Given the description of an element on the screen output the (x, y) to click on. 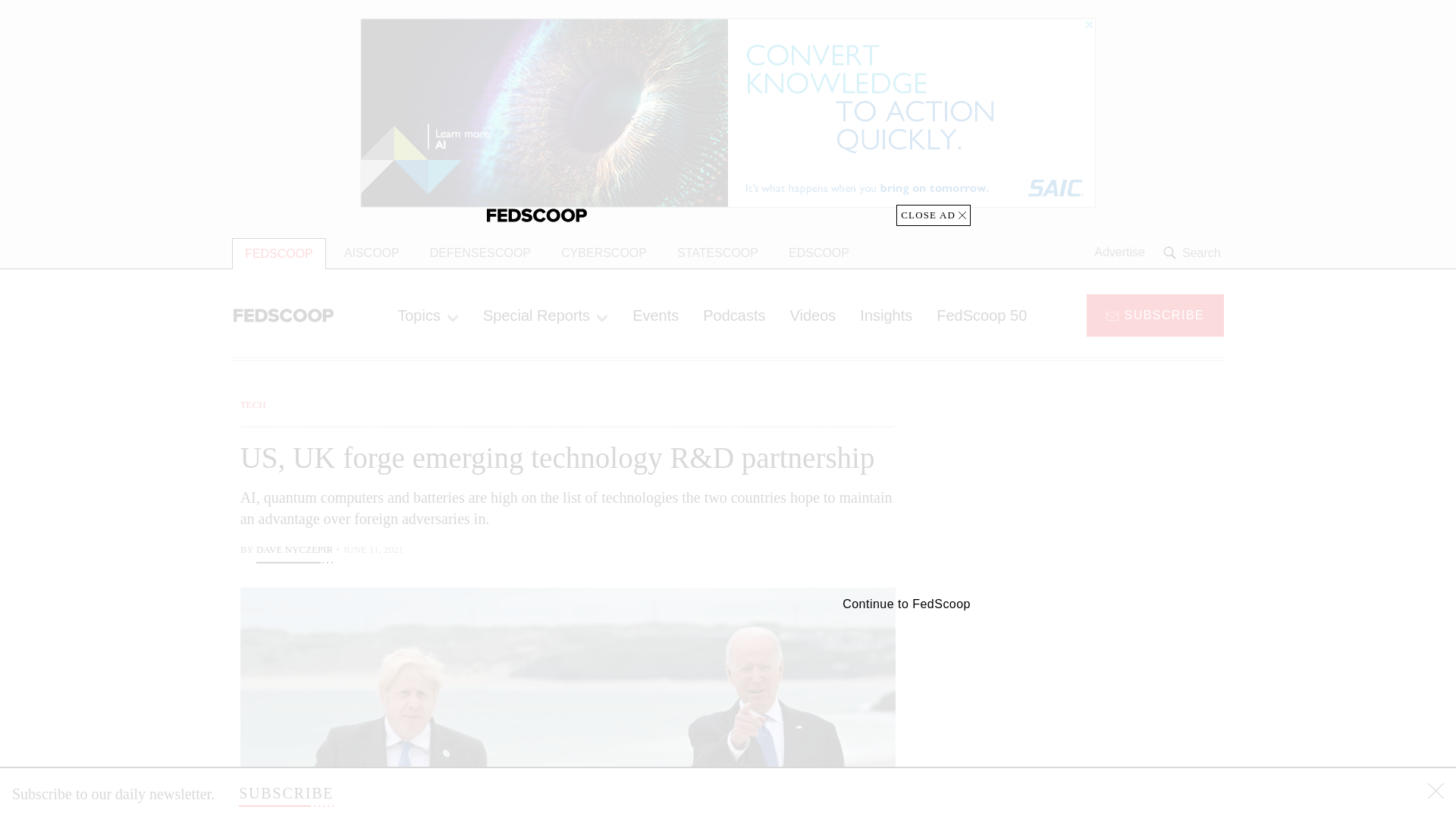
Events (655, 315)
Videos (812, 315)
FEDSCOOP (278, 253)
Podcasts (733, 315)
EDSCOOP (818, 253)
STATESCOOP (717, 253)
AISCOOP (371, 253)
FedScoop 50 (981, 315)
3rd party ad content (1101, 705)
Insights (885, 315)
Topics (427, 315)
3rd party ad content (1101, 492)
Search (1193, 252)
DEFENSESCOOP (480, 253)
